Given the description of an element on the screen output the (x, y) to click on. 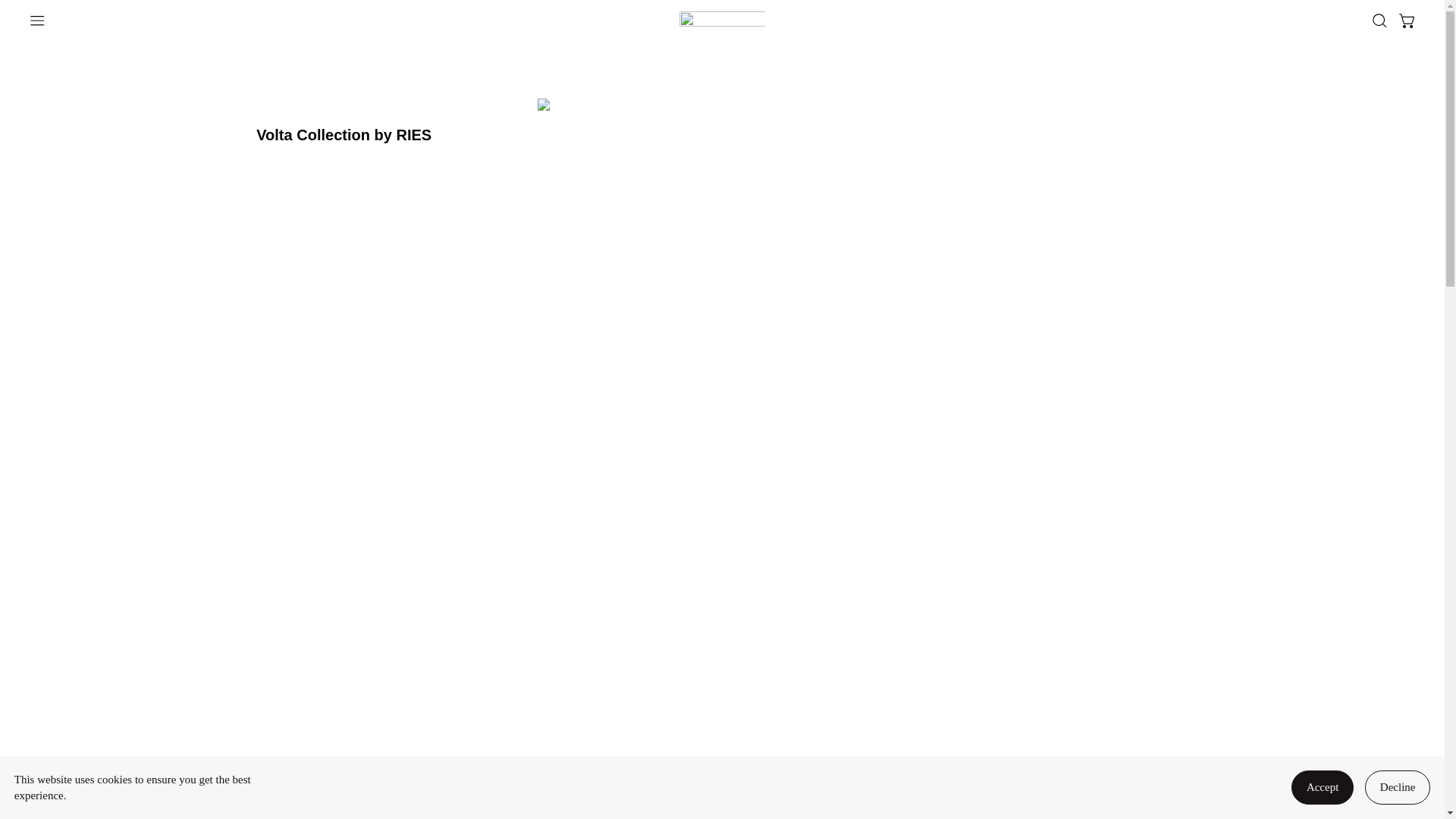
Decline (1397, 787)
Menu (37, 20)
Accept (1322, 787)
